Given the description of an element on the screen output the (x, y) to click on. 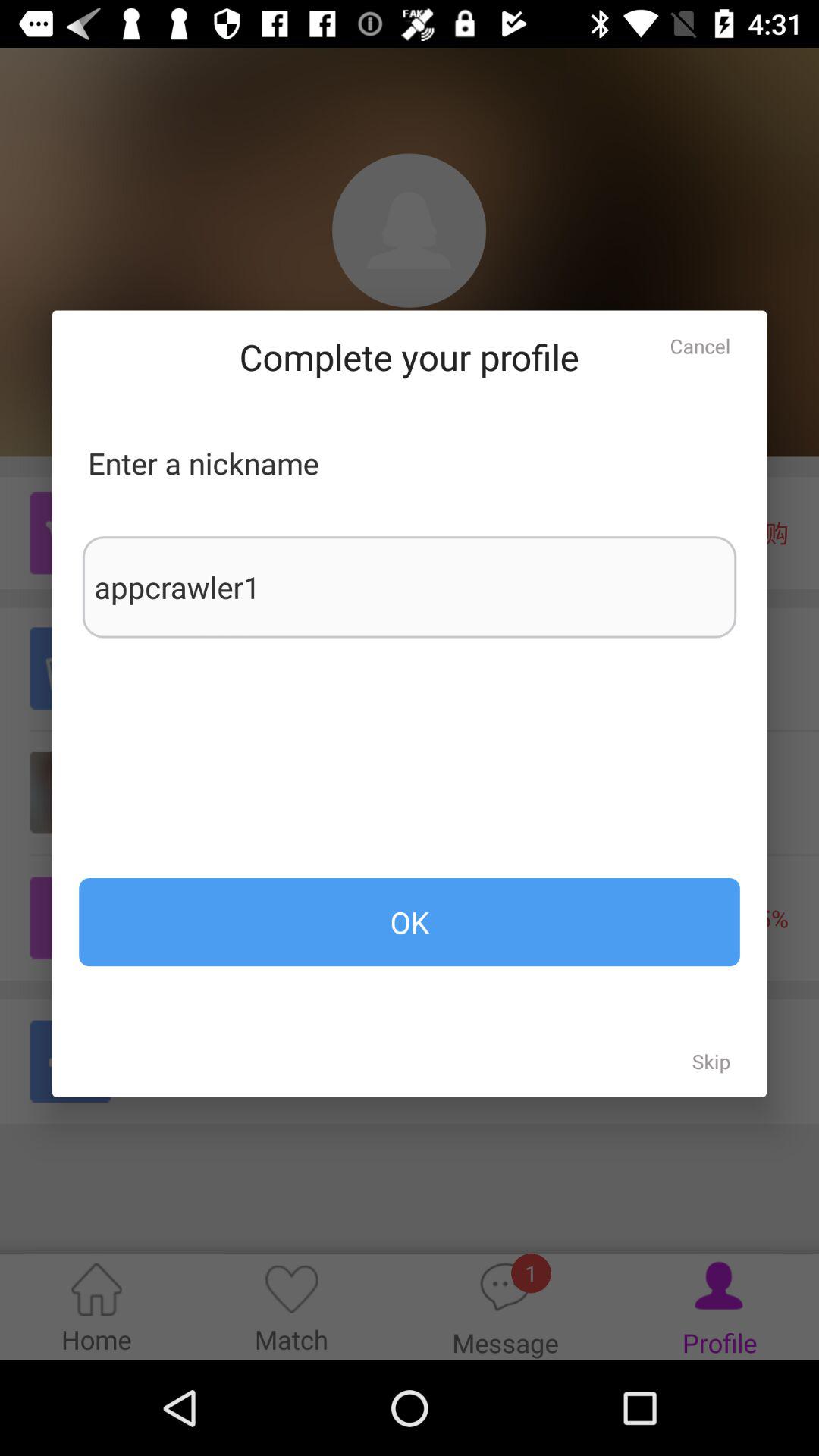
open item next to the complete your profile icon (700, 345)
